Given the description of an element on the screen output the (x, y) to click on. 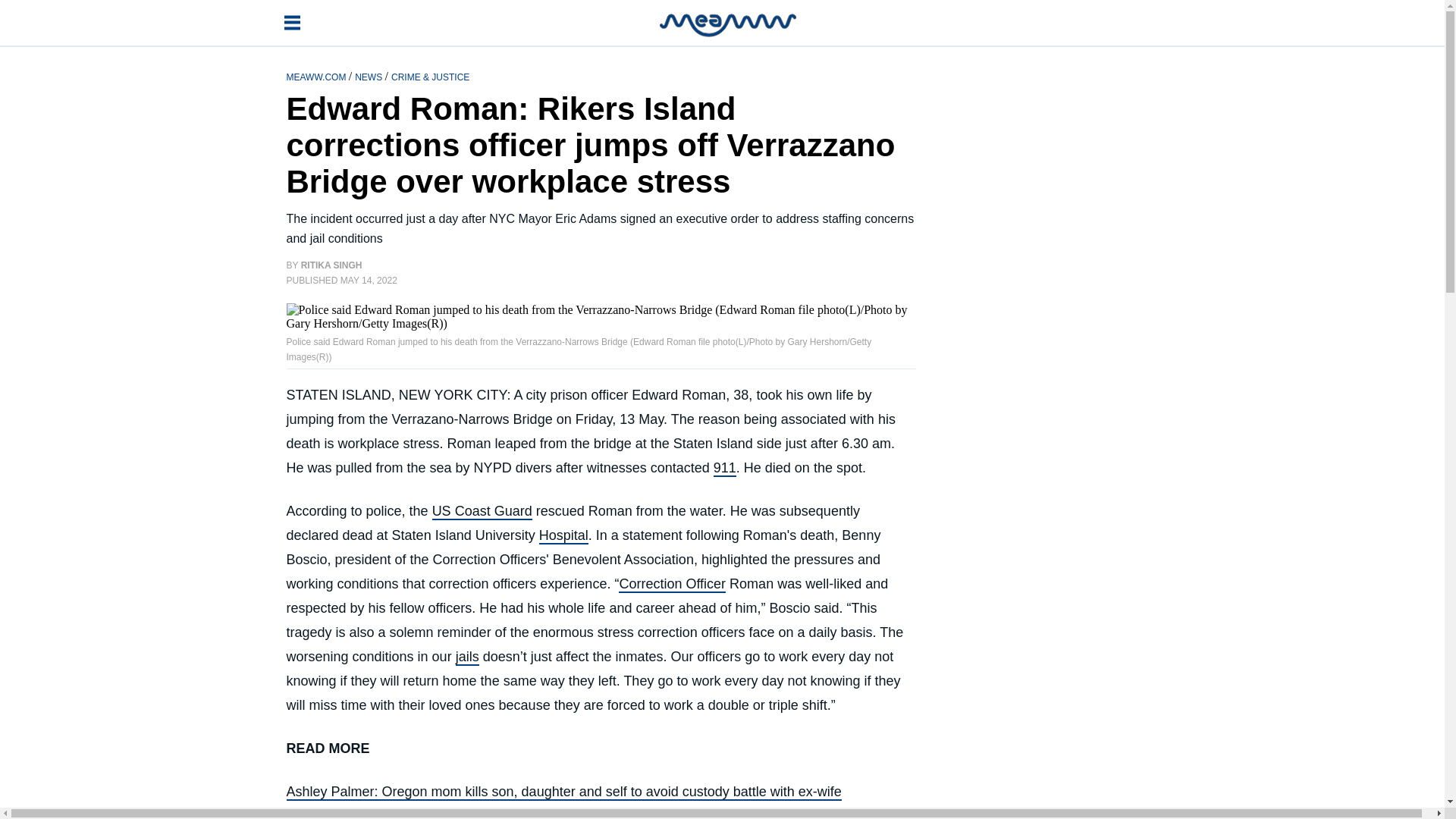
jails (467, 657)
MEAWW.COM (317, 75)
911 (724, 468)
Hospital (563, 535)
US Coast Guard (482, 511)
NEWS (369, 75)
RITIKA SINGH (331, 265)
Correction Officer (671, 584)
